Given the description of an element on the screen output the (x, y) to click on. 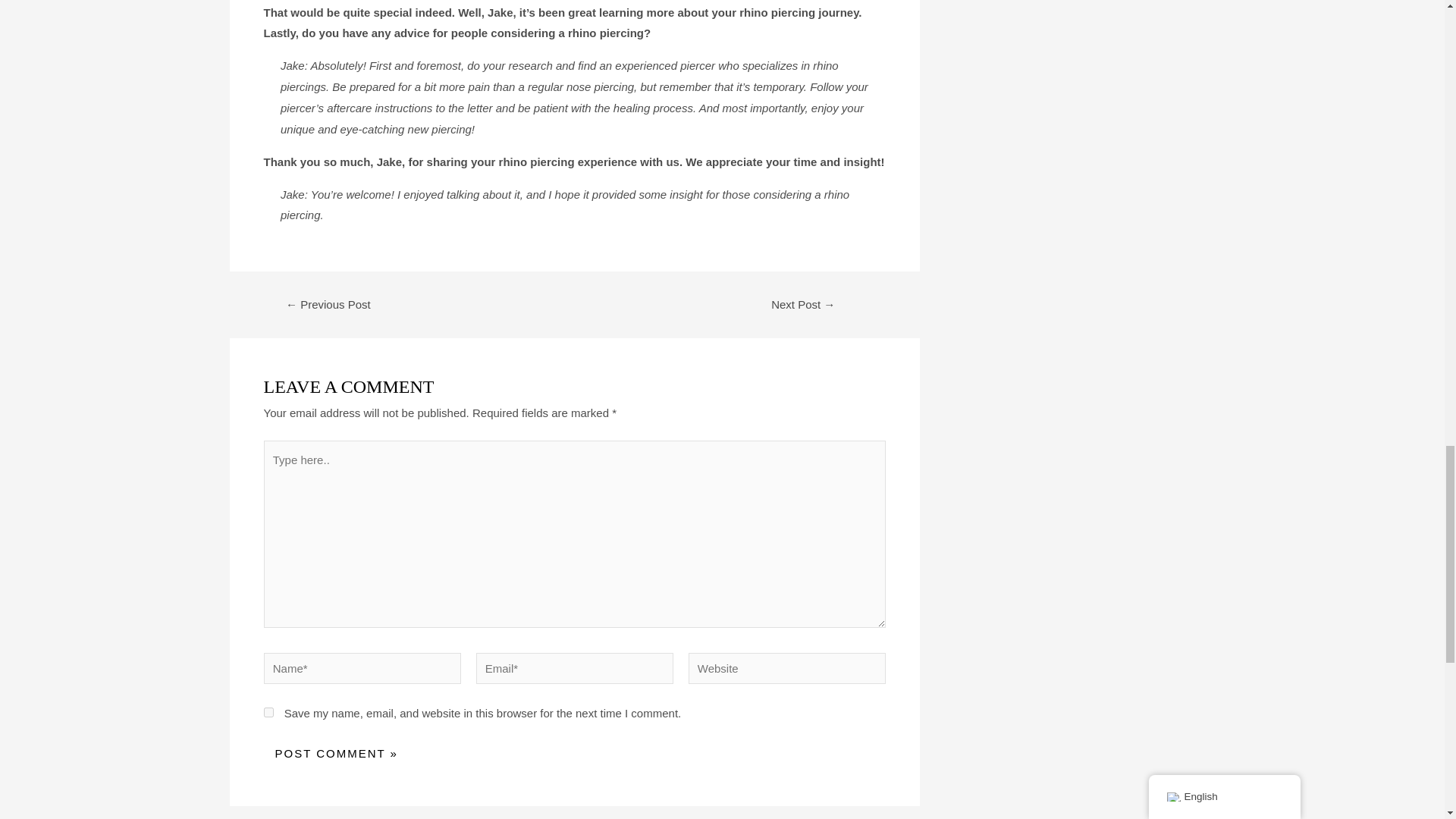
yes (268, 712)
Dermal Punches Demystified: Complete Guide (803, 304)
Why Are Piercing Guns So Bad? (327, 304)
